Given the description of an element on the screen output the (x, y) to click on. 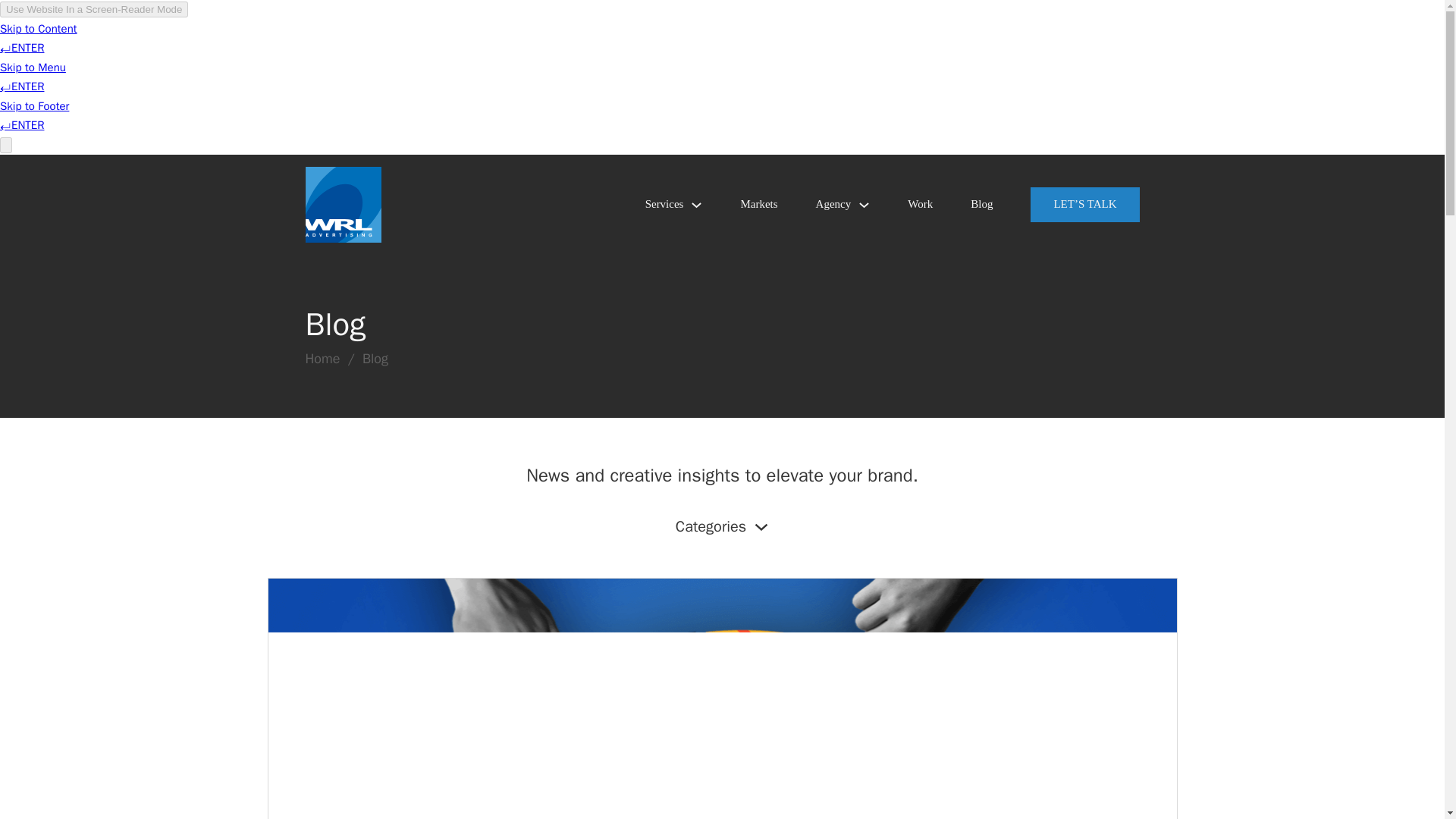
Services (664, 204)
Blog (981, 204)
Markets (758, 204)
Work (920, 204)
Agency (833, 204)
